Given the description of an element on the screen output the (x, y) to click on. 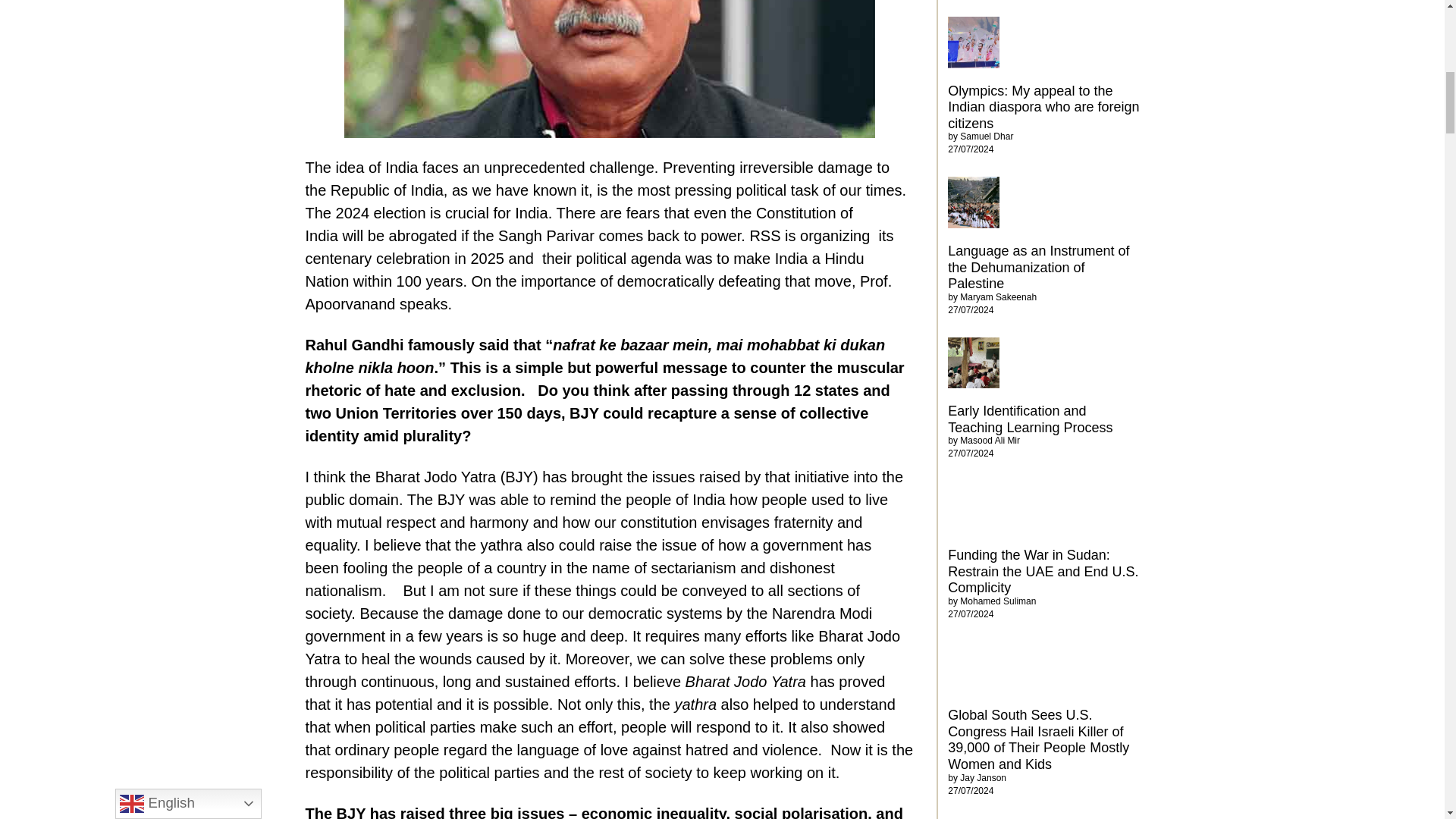
We also need to win to live here after 2024: Apoorvanand 2 (609, 69)
